Given the description of an element on the screen output the (x, y) to click on. 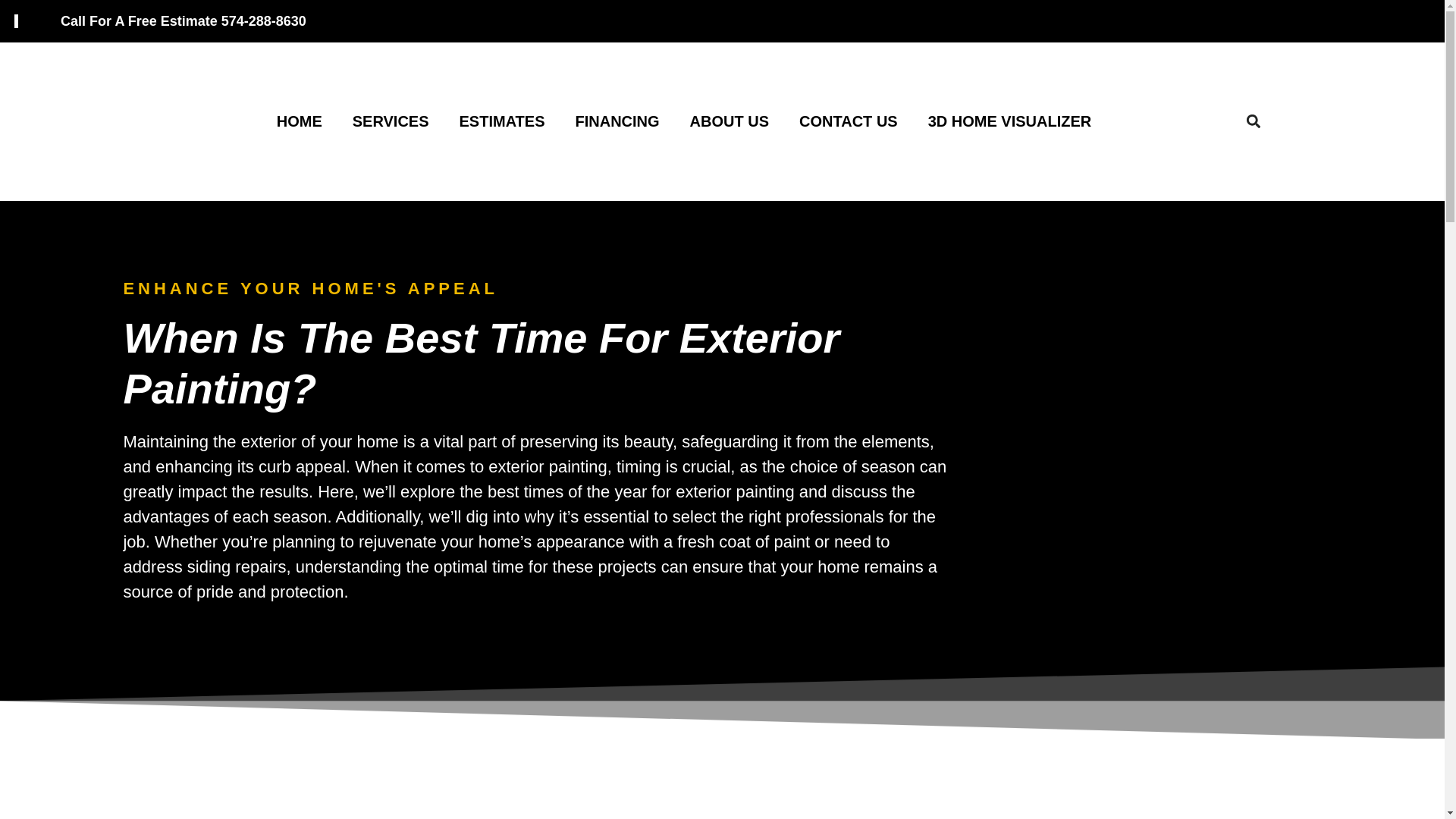
HOME (299, 121)
CONTACT US (848, 121)
Call For A Free Estimate 574-288-8630 (183, 20)
ESTIMATES (502, 121)
FINANCING (616, 121)
SERVICES (390, 121)
3D HOME VISUALIZER (1009, 121)
ABOUT US (729, 121)
